Given the description of an element on the screen output the (x, y) to click on. 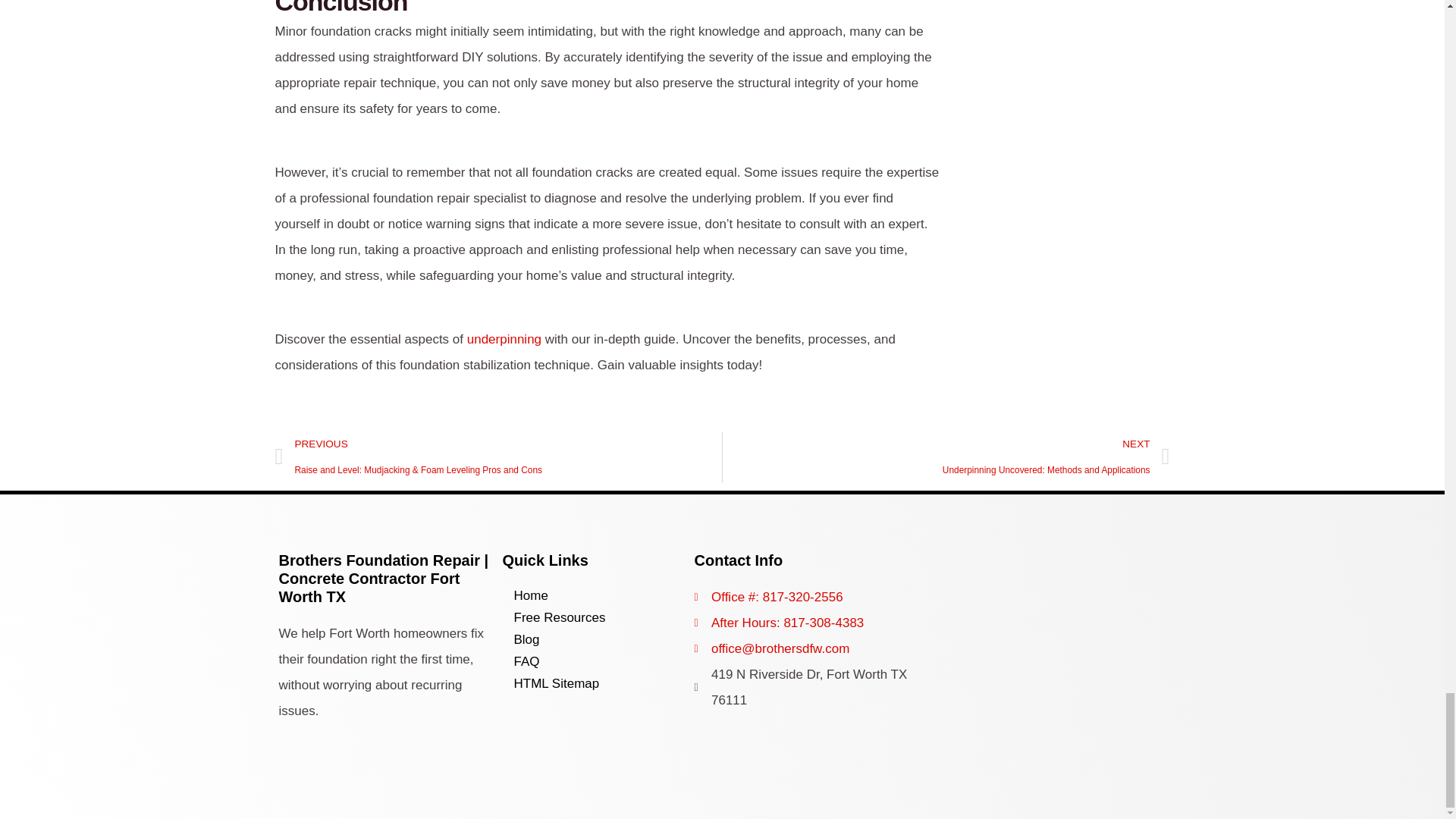
419 N Riverside Dr, Fort Worth TX 76111 (1057, 621)
underpinning (504, 339)
Home (946, 457)
Free Resources (558, 595)
